Given the description of an element on the screen output the (x, y) to click on. 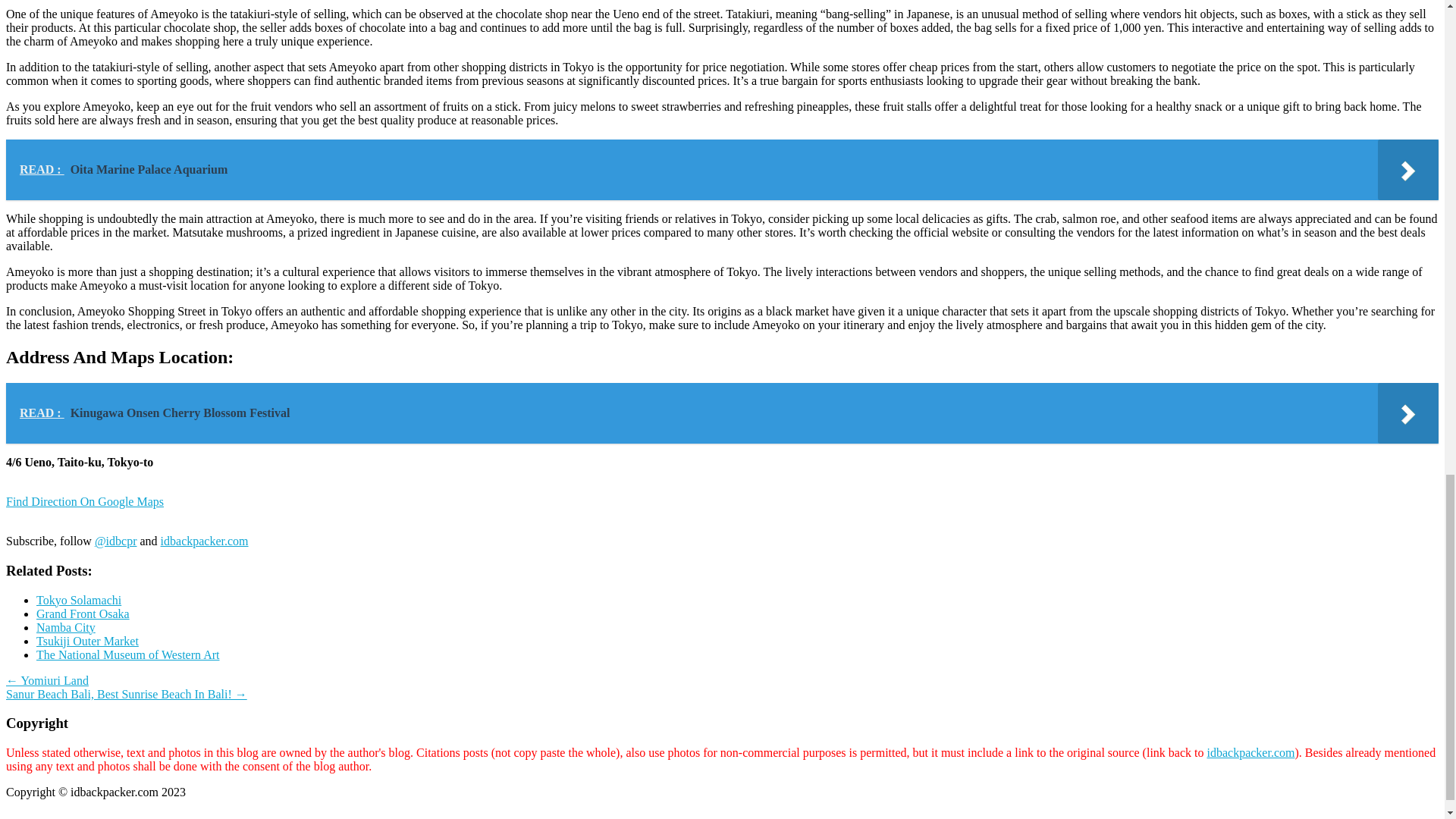
Namba City (66, 626)
Find Direction On Google Maps (84, 508)
Grand Front Osaka (82, 613)
idbackpacker.com (1250, 752)
The National Museum of Western Art (127, 654)
Tokyo Solamachi (78, 599)
Tsukiji Outer Market (87, 640)
idbackpacker.com (204, 540)
